Given the description of an element on the screen output the (x, y) to click on. 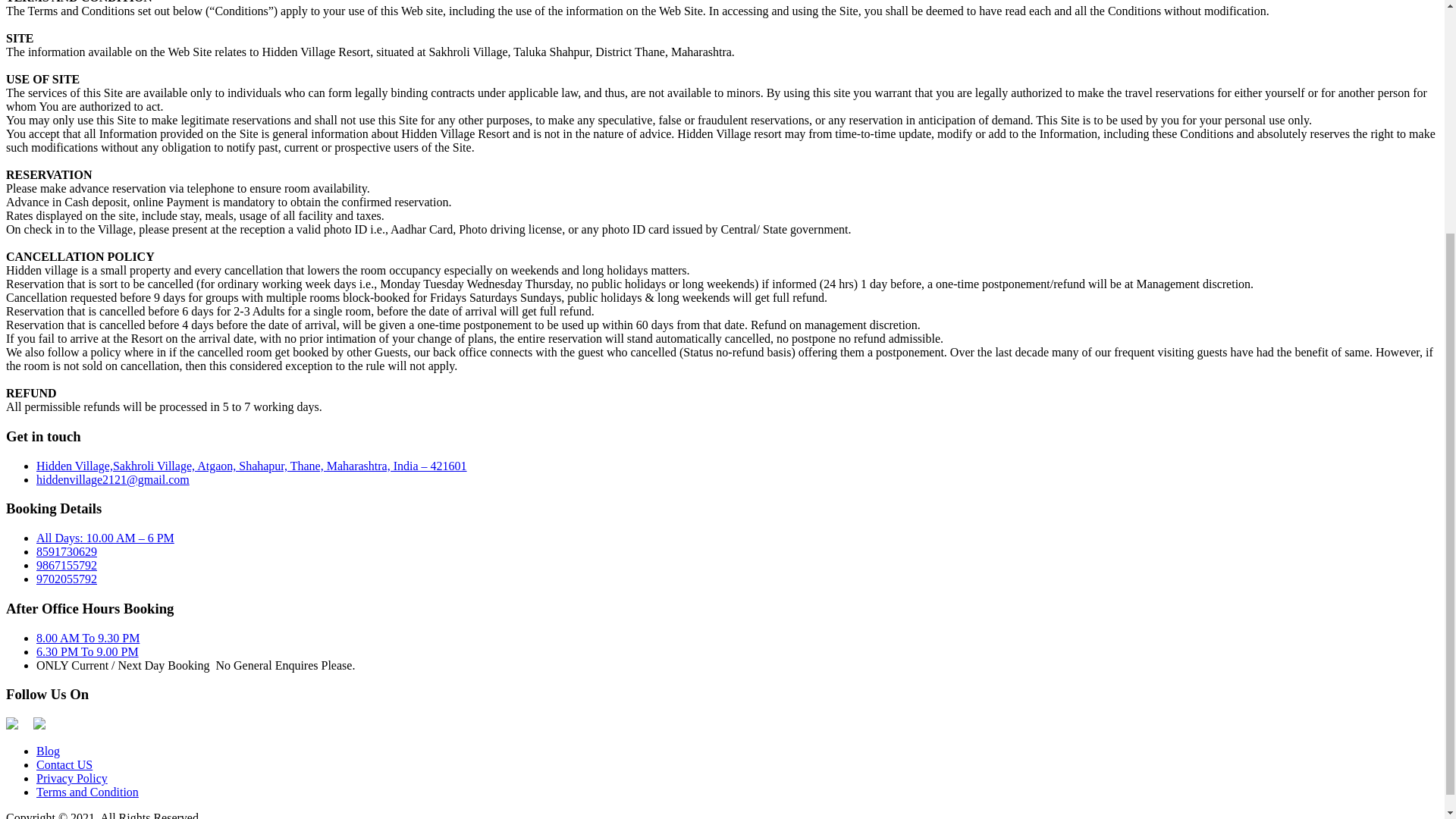
6.30 PM To 9.00 PM (87, 651)
8591730629 (66, 551)
Privacy Policy (71, 778)
Terms and Condition (87, 791)
9702055792 (66, 578)
9867155792 (66, 564)
8.00 AM To 9.30 PM (87, 637)
Contact US (64, 764)
Blog (47, 750)
